Given the description of an element on the screen output the (x, y) to click on. 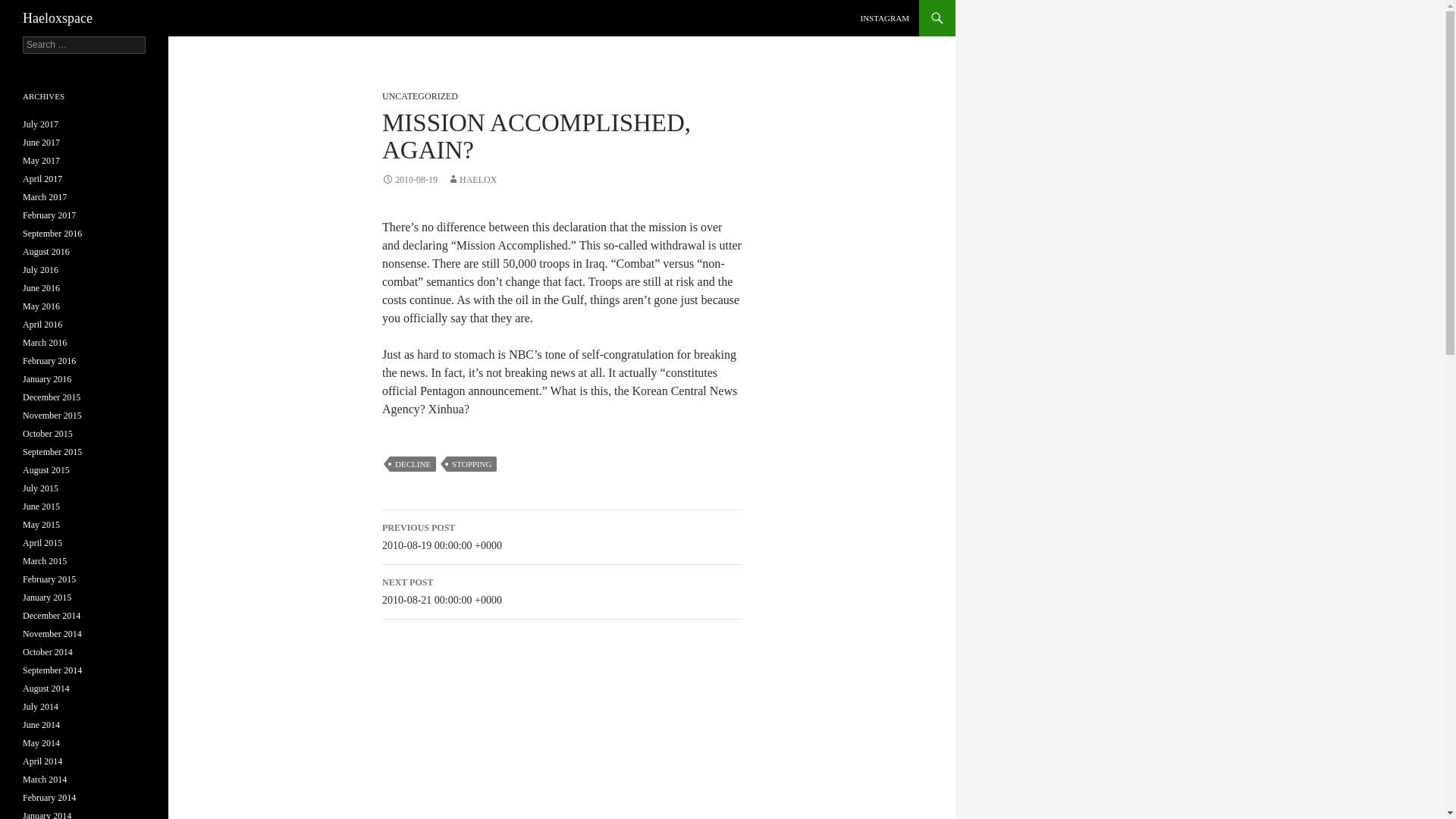
July 2015 (40, 488)
April 2017 (42, 178)
HAELOX (471, 179)
March 2015 (44, 561)
July 2016 (40, 269)
September 2016 (52, 233)
June 2017 (41, 142)
DECLINE (412, 463)
March 2017 (44, 196)
2010-08-19 (409, 179)
February 2016 (49, 360)
July 2017 (40, 123)
November 2015 (52, 415)
June 2016 (41, 287)
December 2015 (51, 397)
